Given the description of an element on the screen output the (x, y) to click on. 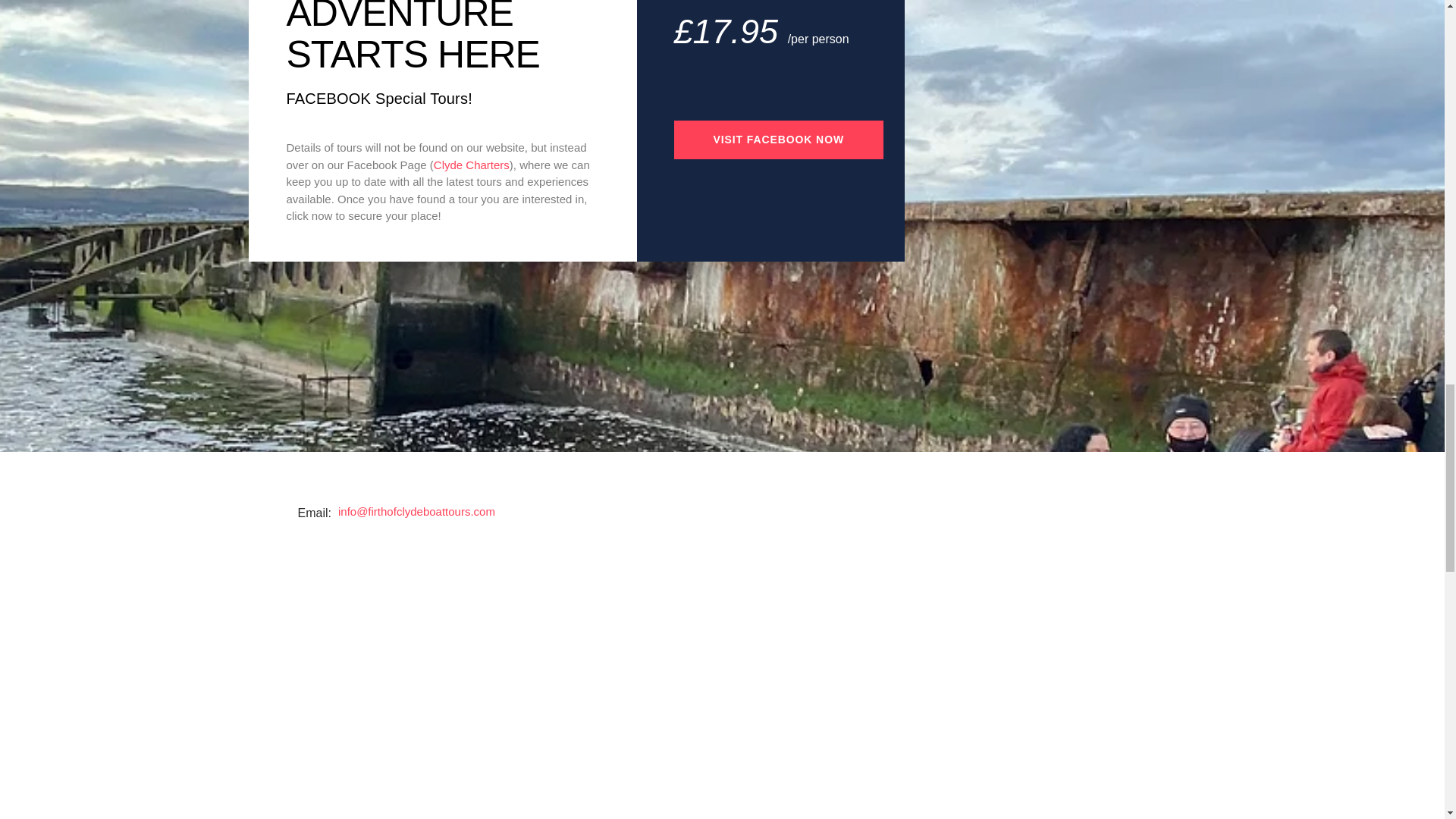
VISIT FACEBOOK NOW (777, 139)
Clyde Charters (471, 164)
